Given the description of an element on the screen output the (x, y) to click on. 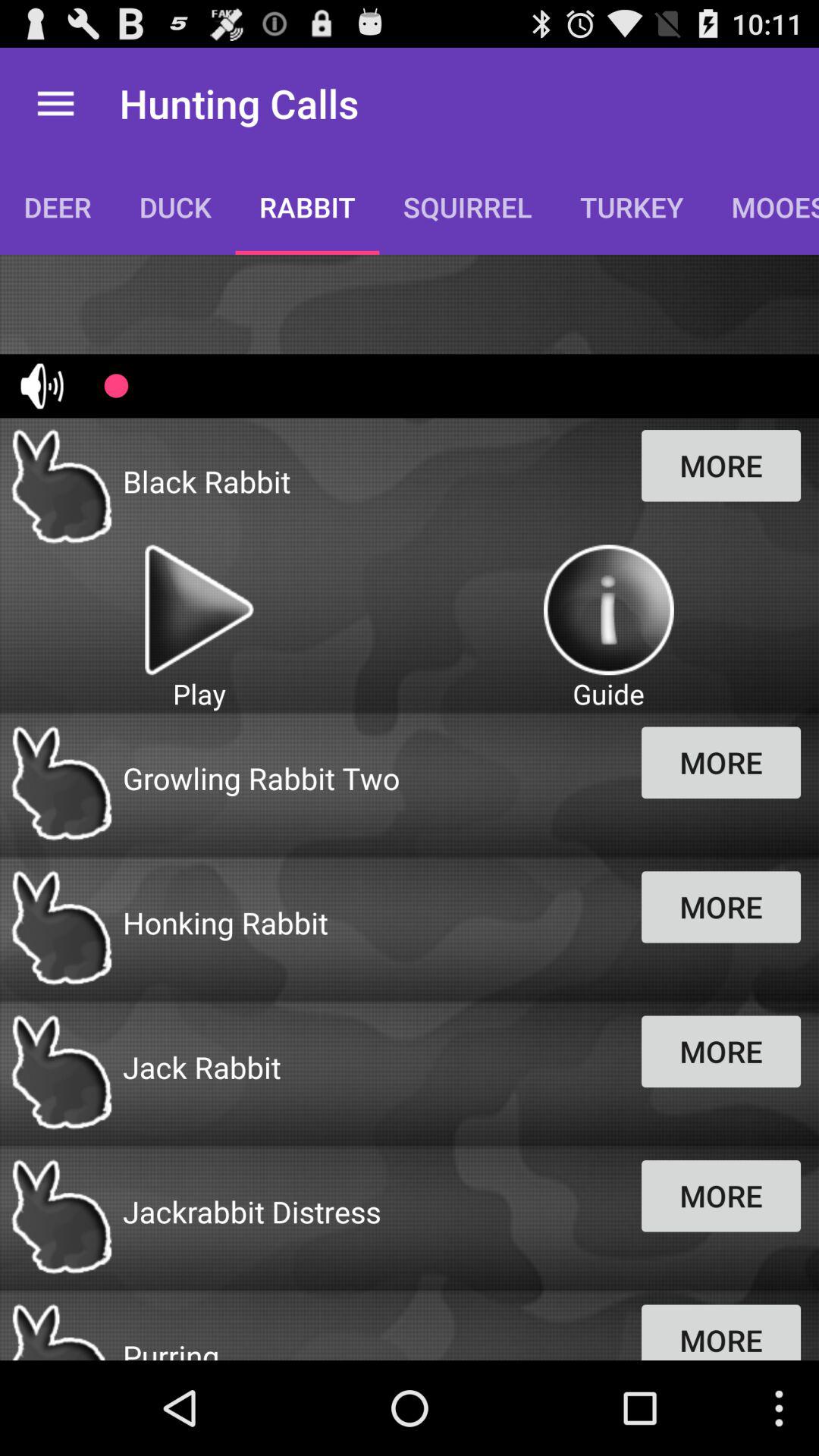
information guide (608, 609)
